Given the description of an element on the screen output the (x, y) to click on. 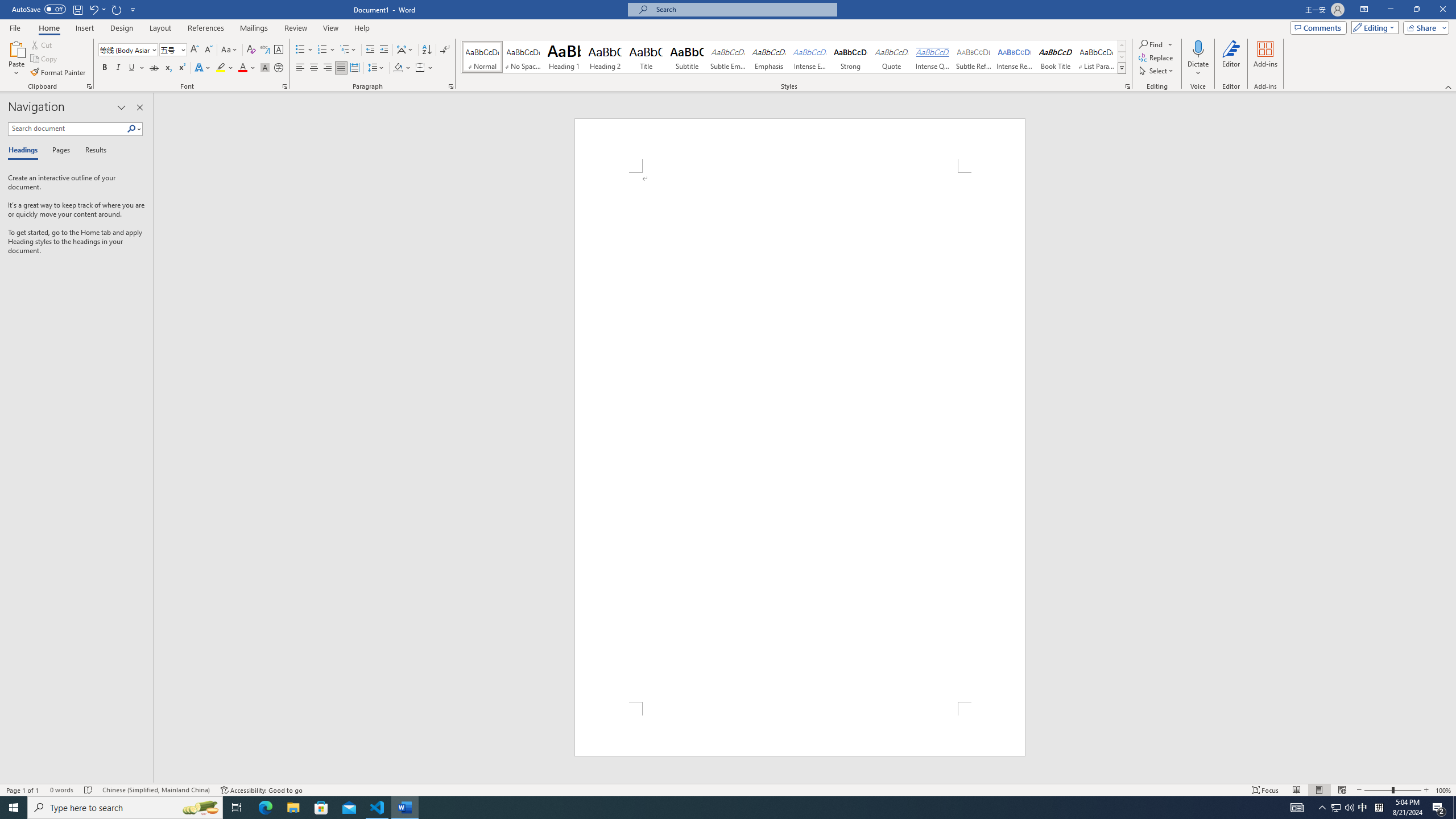
Book Title (1055, 56)
